Given the description of an element on the screen output the (x, y) to click on. 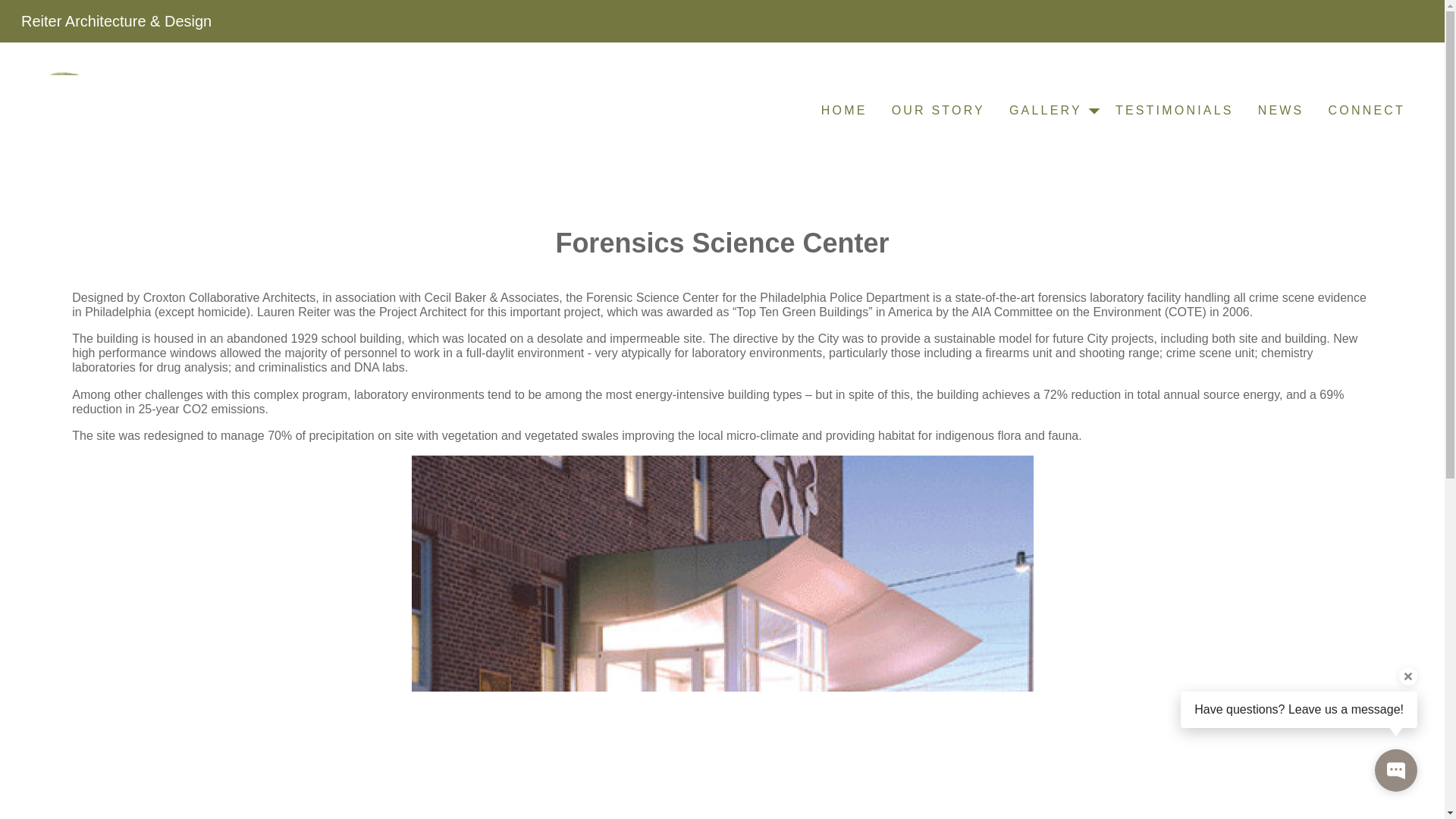
NEWS (1281, 110)
GALLERY (1050, 110)
CONNECT (1366, 110)
HOME (844, 110)
TESTIMONIALS (1174, 110)
Close tooltip (1407, 676)
Skip to main content (12, 12)
OUR STORY (938, 110)
